Given the description of an element on the screen output the (x, y) to click on. 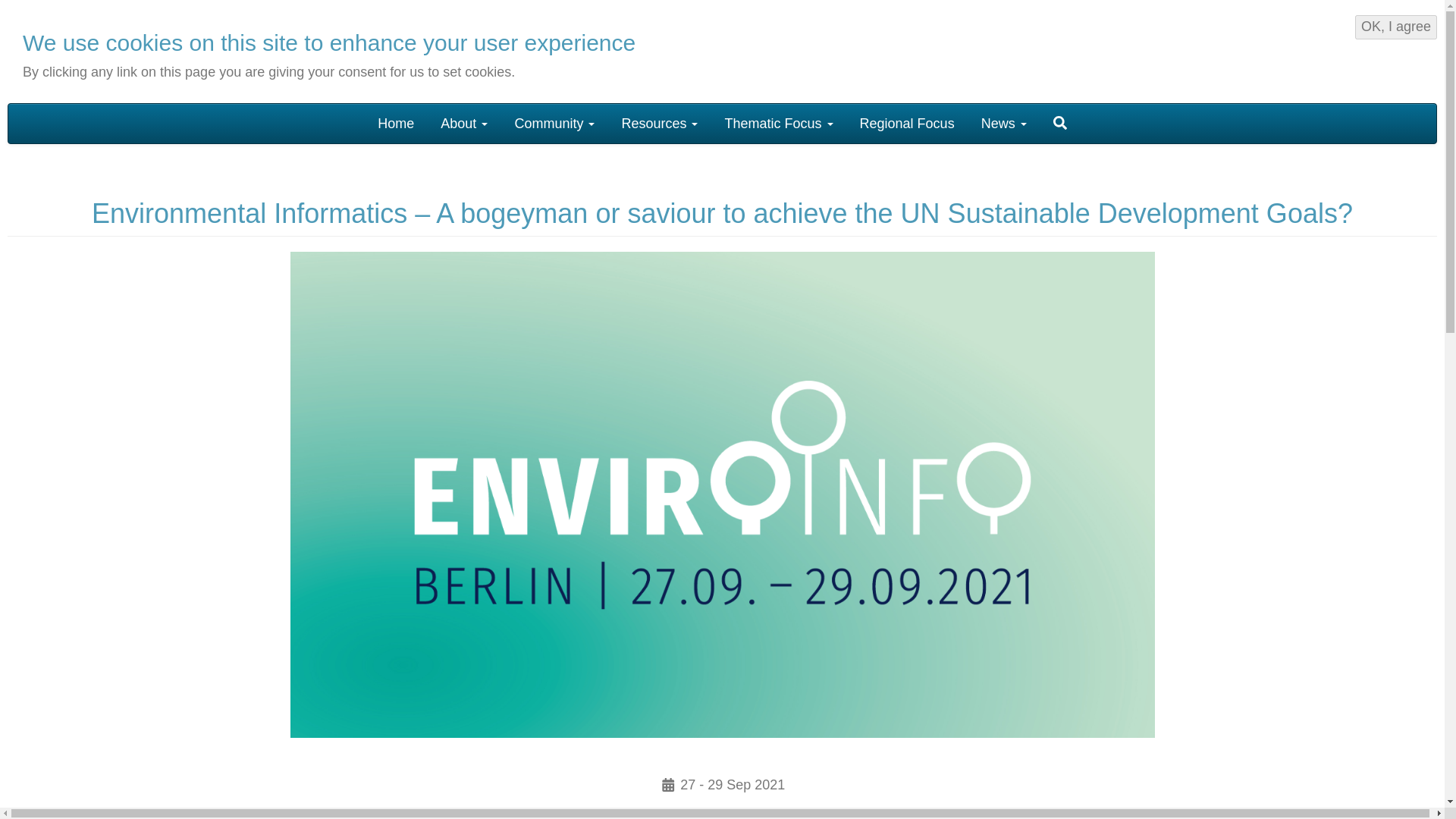
United Nations Office for Outer Space Affairs (1150, 48)
Regional Focus (907, 123)
Home (395, 123)
News (1003, 123)
Home (116, 53)
Thematic Focus (778, 123)
Community (553, 123)
Resources (659, 123)
About (464, 123)
OK, I agree (1396, 27)
Prince Sultan Bin Abdulaziz International Price for Water (1342, 48)
